Given the description of an element on the screen output the (x, y) to click on. 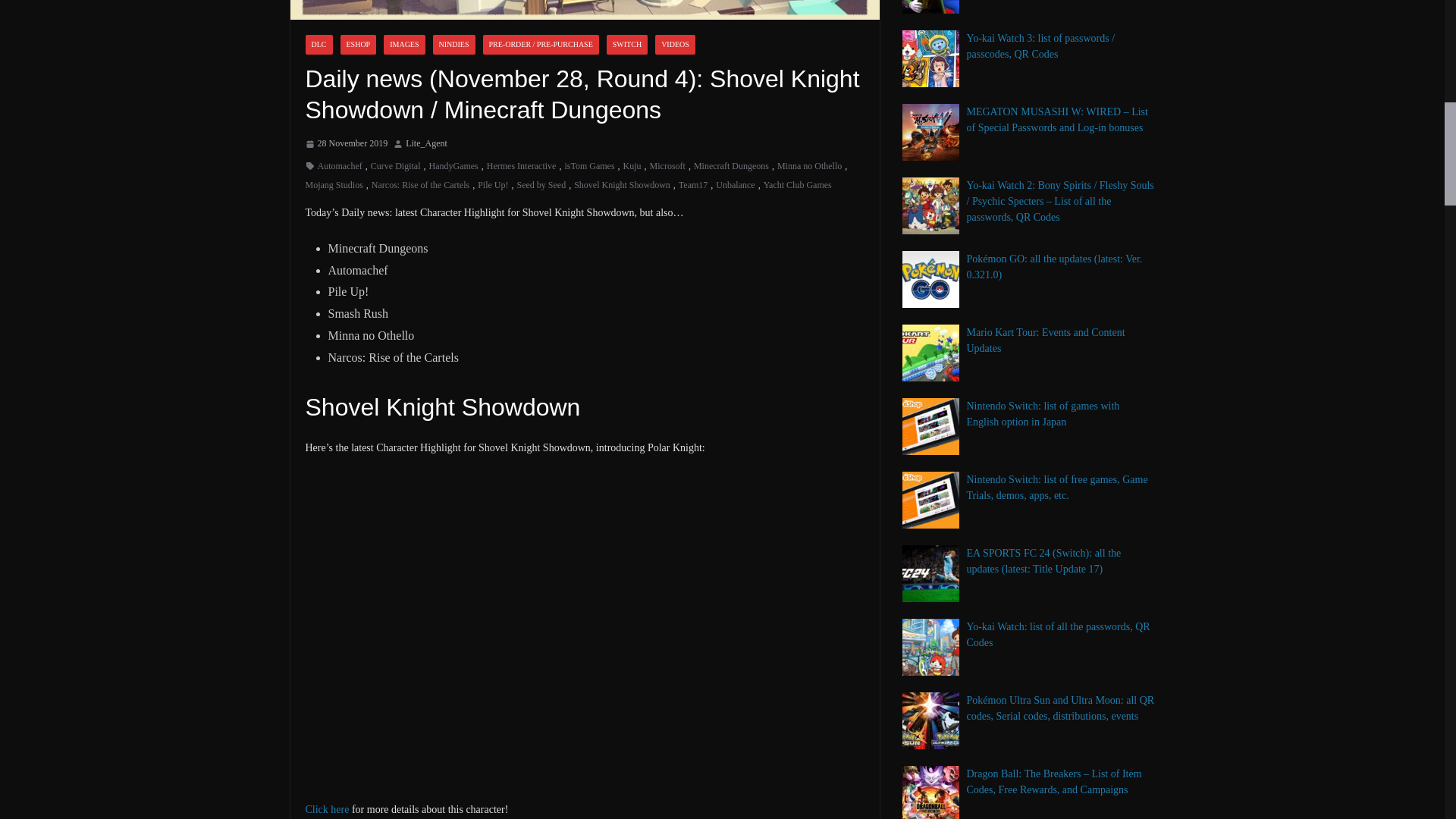
17 h 57 min (345, 143)
